Given the description of an element on the screen output the (x, y) to click on. 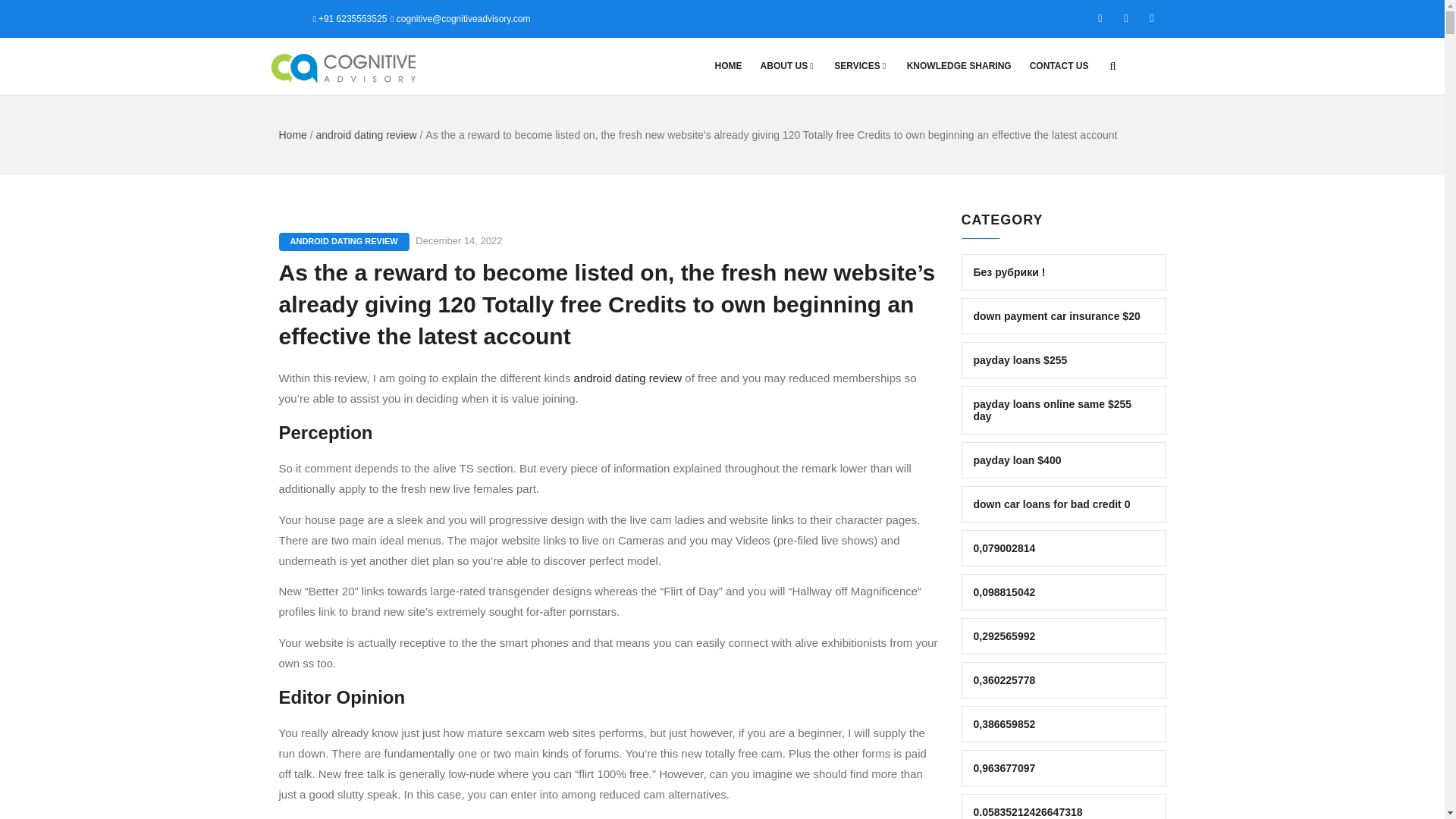
CONTACT US (1058, 66)
SERVICES (860, 66)
android dating review (365, 134)
KNOWLEDGE SHARING (959, 66)
HOME (728, 66)
ABOUT US (788, 66)
ANDROID DATING REVIEW (344, 241)
Home (293, 134)
December 14, 2022 (458, 240)
android dating review (627, 377)
